Given the description of an element on the screen output the (x, y) to click on. 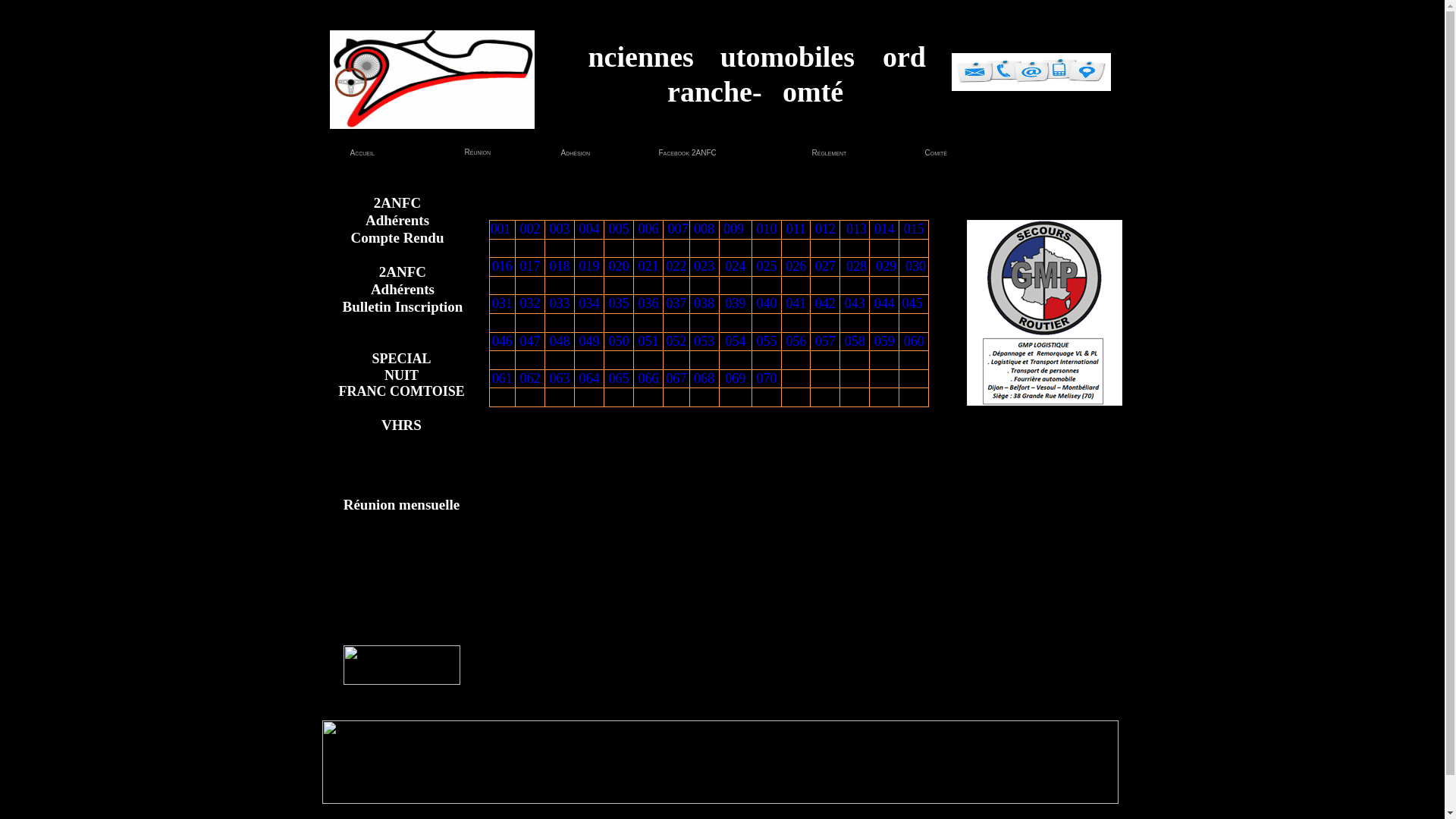
053 Element type: text (703, 340)
 028 Element type: text (855, 265)
 030 Element type: text (914, 265)
045  Element type: text (914, 302)
069 Element type: text (734, 377)
040 Element type: text (766, 302)
 008  Element type: text (703, 228)
007 Element type: text (677, 228)
033 Element type: text (559, 302)
023 Element type: text (703, 265)
Facebook 2ANFC     Element type: text (682, 152)
065 Element type: text (618, 377)
036 Element type: text (648, 302)
SPECIAL
NUIT
FRANC COMTOISE Element type: text (401, 375)
047 Element type: text (530, 340)
019 Element type: text (589, 265)
Accueil Element type: text (362, 152)
037 Element type: text (675, 302)
026 Element type: text (795, 265)
060 Element type: text (913, 340)
018 Element type: text (559, 265)
055 Element type: text (766, 340)
070 Element type: text (766, 377)
017 Element type: text (530, 265)
Accueil Element type: text (351, 152)
032 Element type: text (530, 302)
048 Element type: text (559, 340)
 029 Element type: text (884, 265)
 013 Element type: text (855, 228)
024 Element type: text (734, 265)
 005  Element type: text (618, 228)
067 Element type: text (675, 377)
041 Element type: text (795, 302)
031 Element type: text (502, 302)
 012  Element type: text (824, 228)
022 Element type: text (675, 265)
038 Element type: text (703, 302)
052 Element type: text (675, 340)
 010  Element type: text (766, 228)
020 Element type: text (618, 265)
 006  Element type: text (648, 228)
016 Element type: text (502, 265)
 009   Element type: text (735, 228)
061 Element type: text (502, 377)
025 Element type: text (766, 265)
057 Element type: text (825, 340)
035 Element type: text (618, 302)
051 Element type: text (648, 340)
 014  Element type: text (883, 228)
 043  Element type: text (854, 302)
046 Element type: text (502, 340)
 002  Element type: text (529, 228)
039 Element type: text (734, 302)
 003  Element type: text (559, 228)
027 Element type: text (825, 265)
063 Element type: text (559, 377)
049 Element type: text (589, 340)
034 Element type: text (589, 302)
050 Element type: text (618, 340)
 004  Element type: text (588, 228)
 011  Element type: text (795, 228)
062 Element type: text (530, 377)
059 Element type: text (884, 340)
Facebook 2ANFC     Element type: text (691, 152)
066 Element type: text (648, 377)
064 Element type: text (589, 377)
044 Element type: text (884, 302)
001  Element type: text (501, 228)
068 Element type: text (703, 377)
 015  Element type: text (913, 228)
021 Element type: text (648, 265)
042 Element type: text (825, 302)
056 Element type: text (795, 340)
058 Element type: text (854, 340)
054 Element type: text (734, 340)
